Given the description of an element on the screen output the (x, y) to click on. 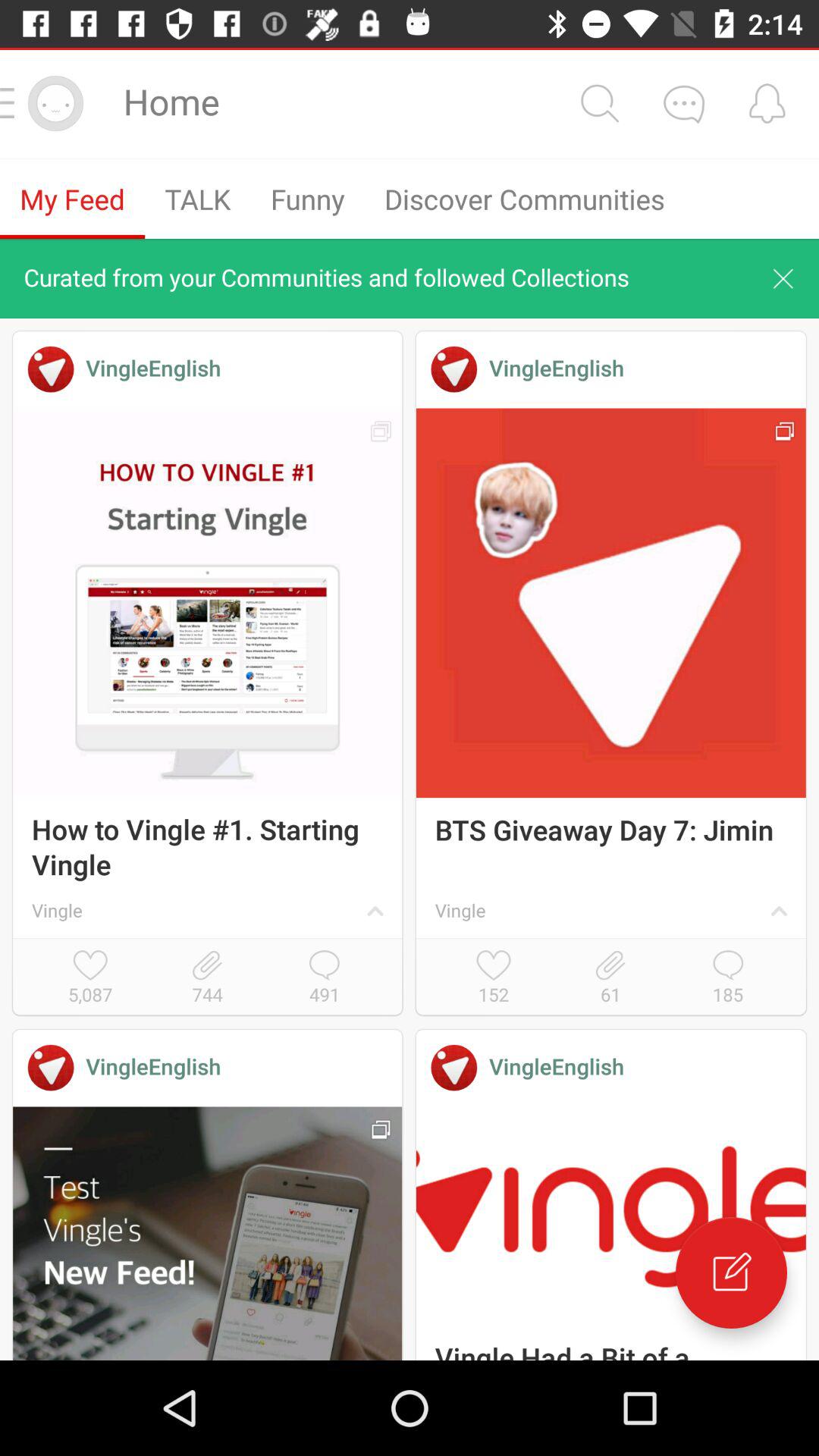
turn off icon above the vingleenglish icon (610, 978)
